Given the description of an element on the screen output the (x, y) to click on. 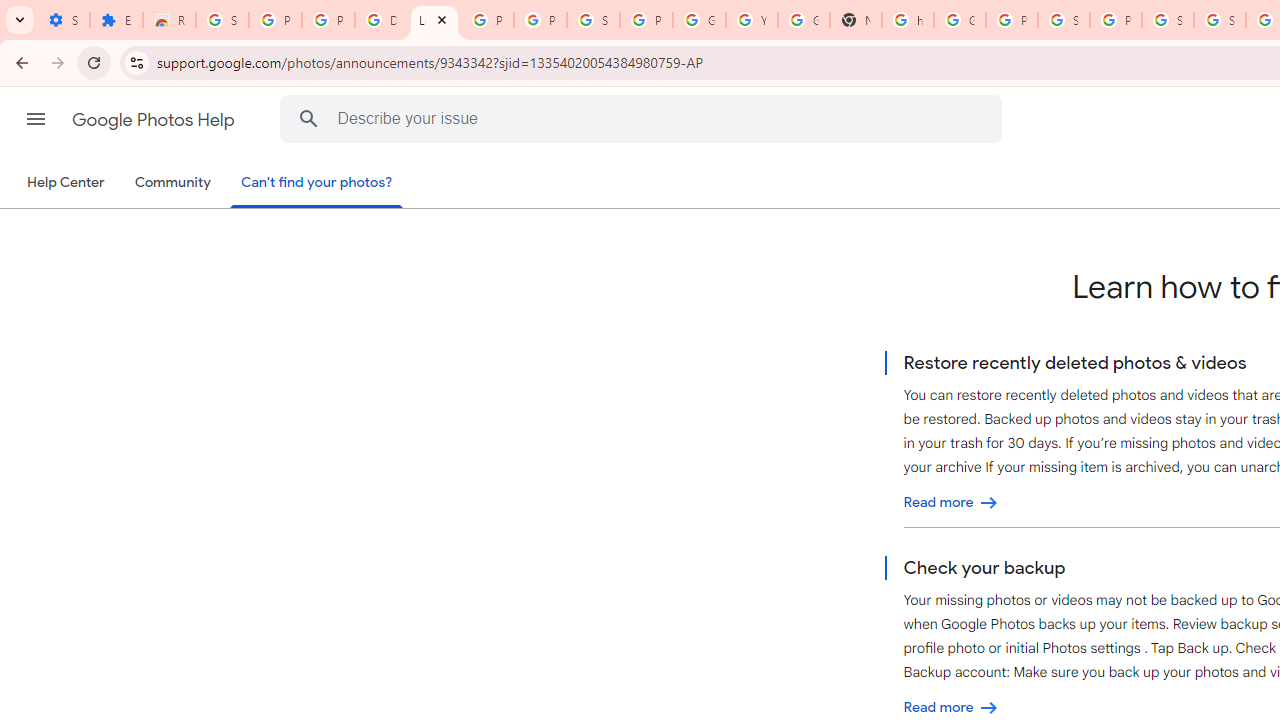
Search Help Center (309, 118)
Check your backup (951, 708)
Learn how to find your photos - Google Photos Help (434, 20)
